Given the description of an element on the screen output the (x, y) to click on. 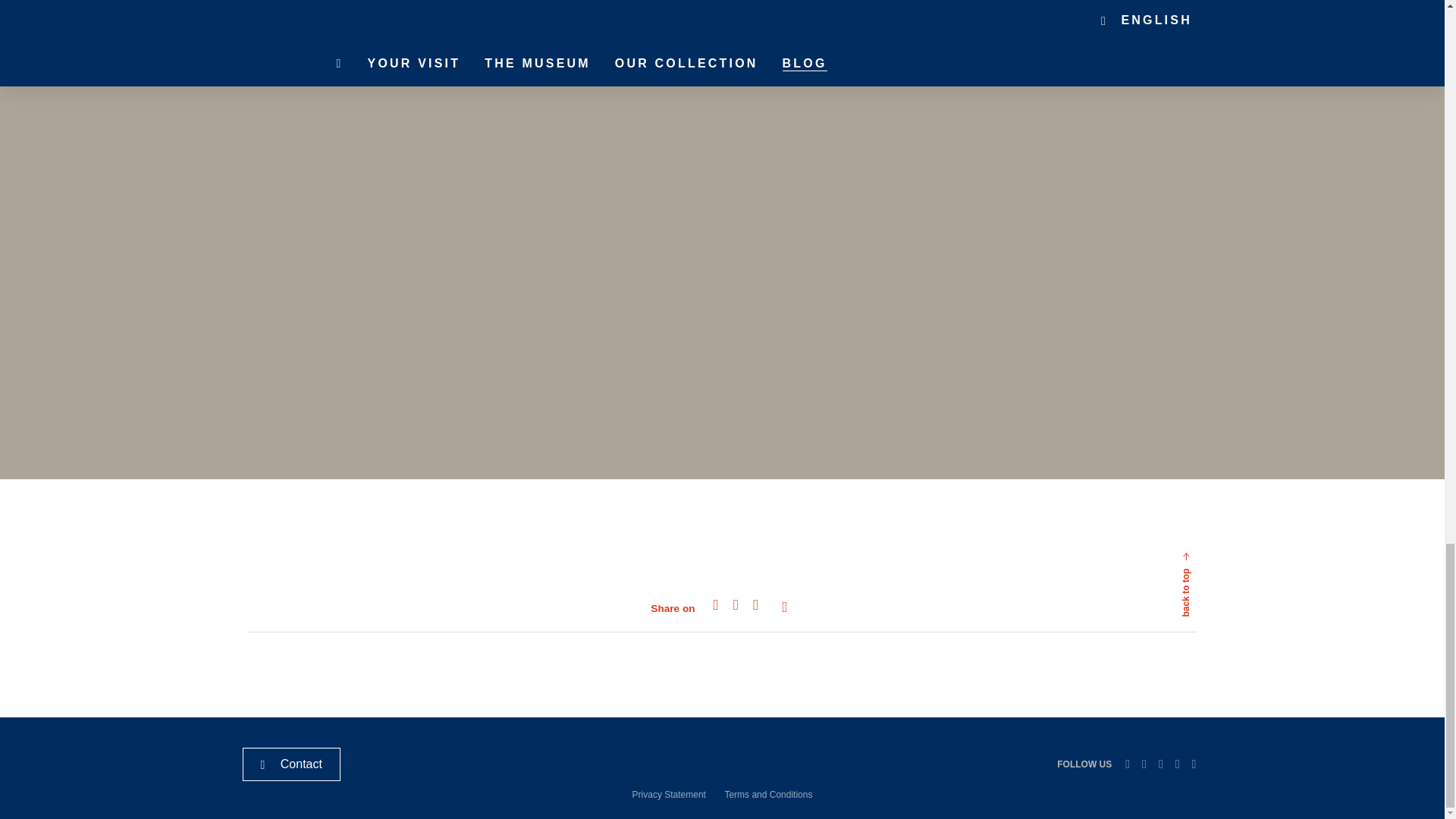
Twitter (1144, 764)
back to top (1150, 607)
LinkedIn (1127, 764)
YouTube (1194, 764)
Terms and Conditions (767, 794)
back to top (1222, 535)
Privacy Statement (668, 794)
Facebook (1161, 764)
back to top (1222, 535)
Instagram (1177, 764)
